Given the description of an element on the screen output the (x, y) to click on. 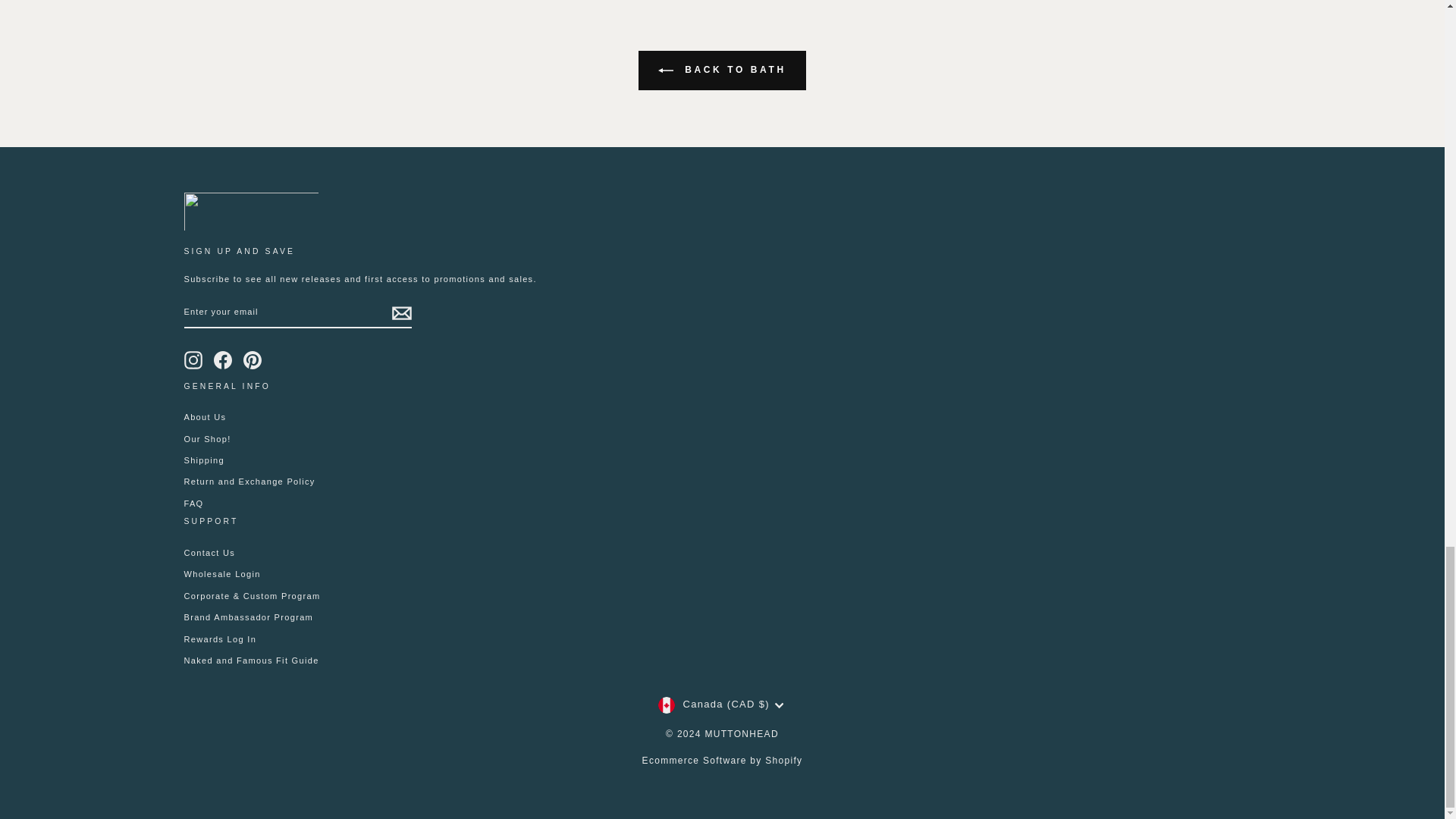
MUTTONHEAD on Instagram (192, 360)
MUTTONHEAD on Facebook (222, 360)
MUTTONHEAD on Pinterest (251, 360)
